Given the description of an element on the screen output the (x, y) to click on. 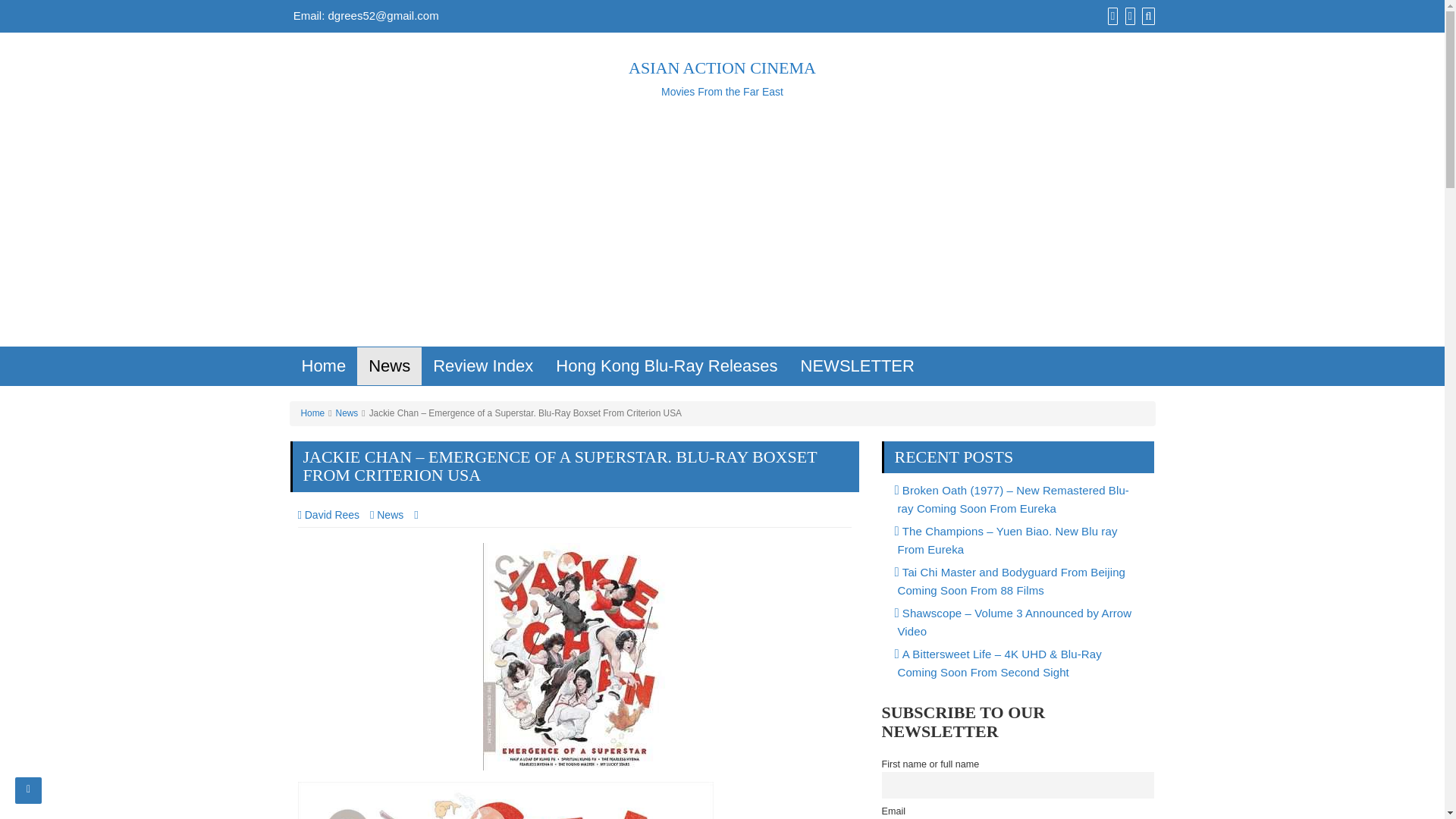
Search Website (1146, 15)
Review Index (483, 365)
Hong Kong Blu-Ray Releases (666, 365)
Home (322, 365)
Facebook (1110, 15)
News (721, 78)
YouTube (389, 365)
NEWSLETTER (1127, 15)
Hong Kong Blu-Ray Releases (857, 365)
Review Index (666, 365)
Advertisement (483, 365)
Home (389, 365)
